Given the description of an element on the screen output the (x, y) to click on. 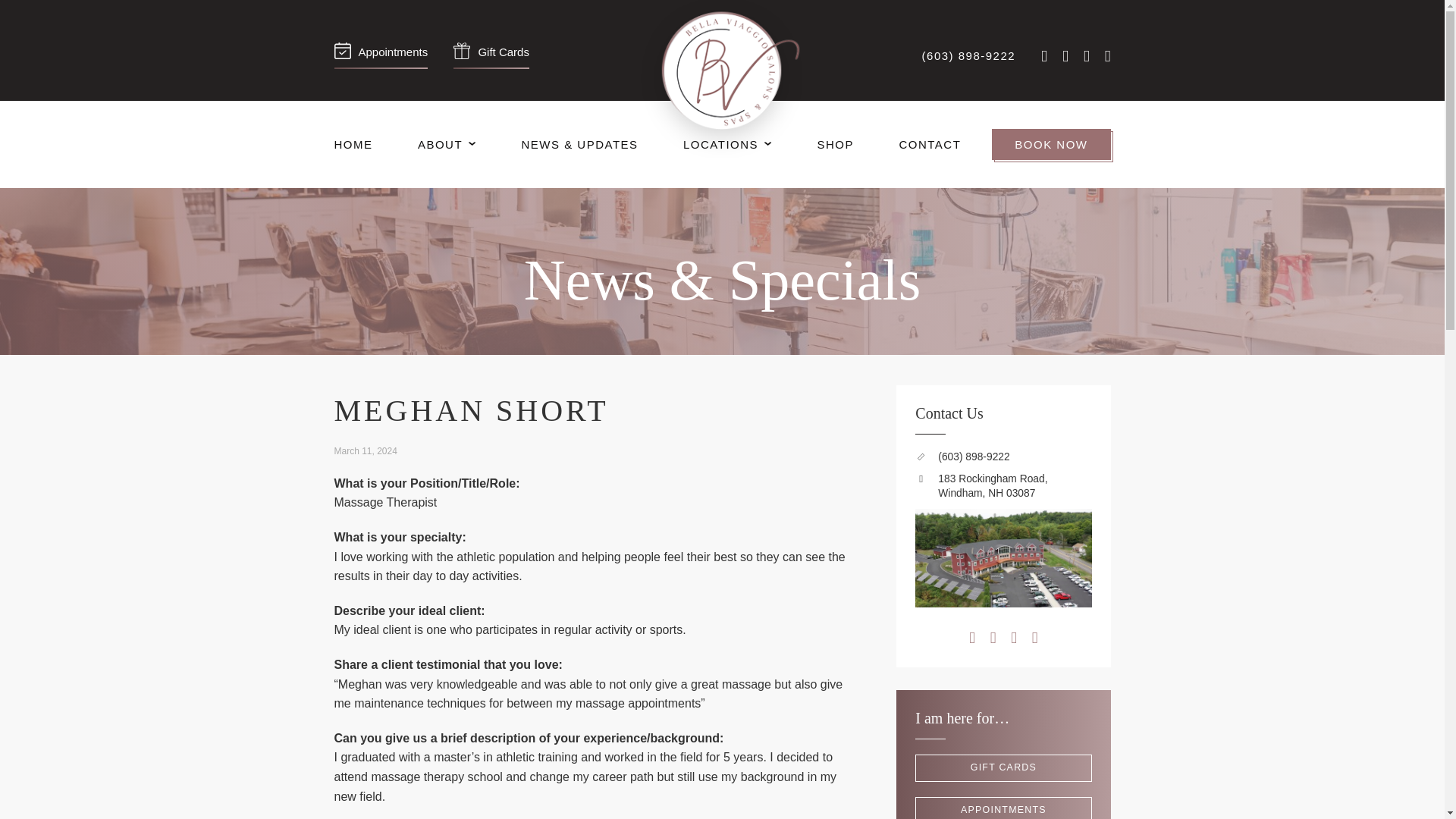
ABOUT (446, 144)
SHOP (835, 144)
Appointments (380, 55)
BOOK NOW (1050, 143)
CONTACT (929, 144)
GIFT CARDS (1002, 767)
Gift Cards (490, 55)
HOME (352, 144)
LOCATIONS (726, 144)
